Given the description of an element on the screen output the (x, y) to click on. 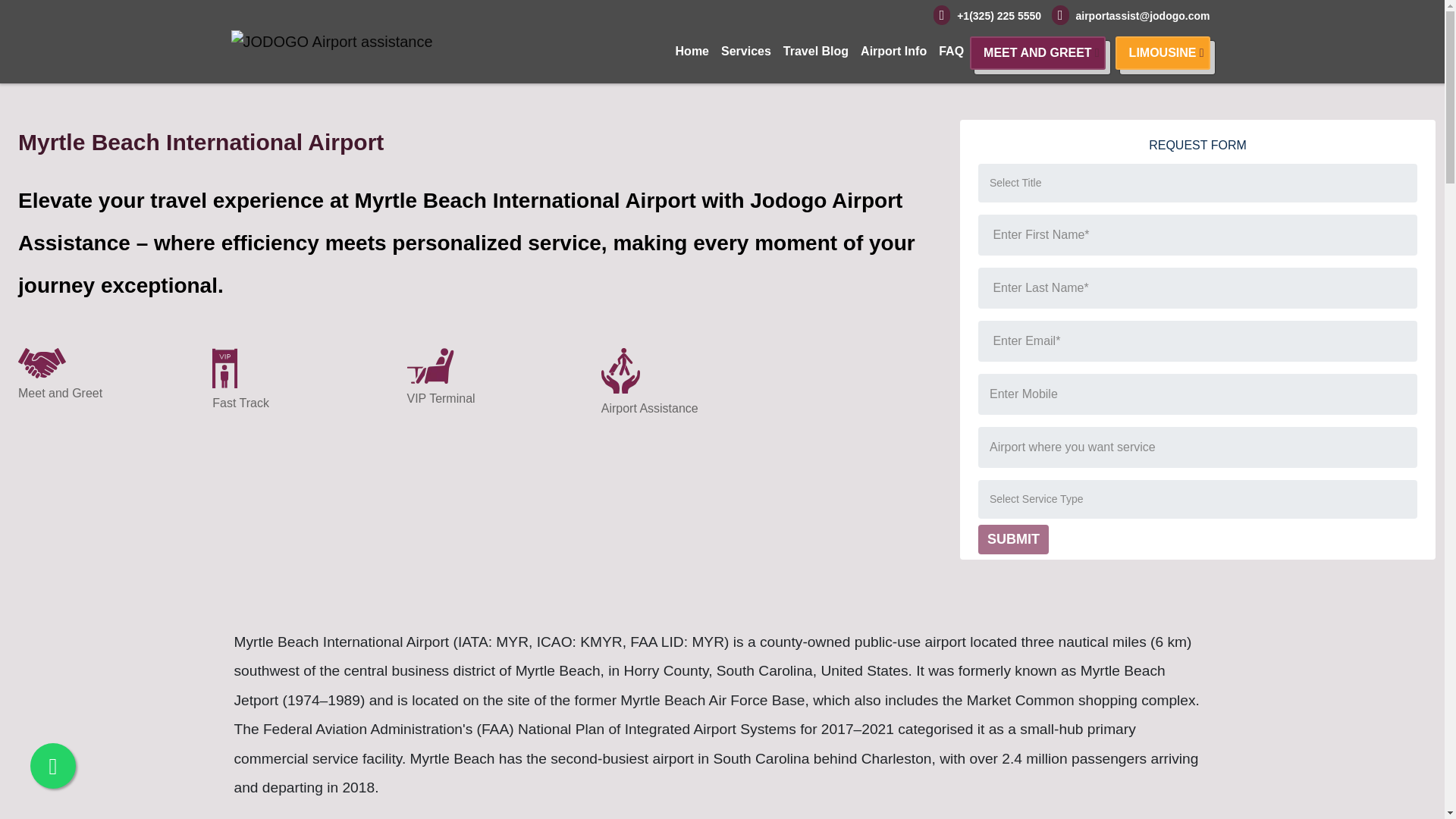
Travel Blog (815, 52)
SUBMIT (1013, 539)
Home (691, 52)
MEET AND GREET (1037, 52)
FAQ (951, 52)
JODOGO Airport assistance (331, 41)
LIMOUSINE (1162, 52)
Airport Info (893, 52)
Services (745, 52)
